Given the description of an element on the screen output the (x, y) to click on. 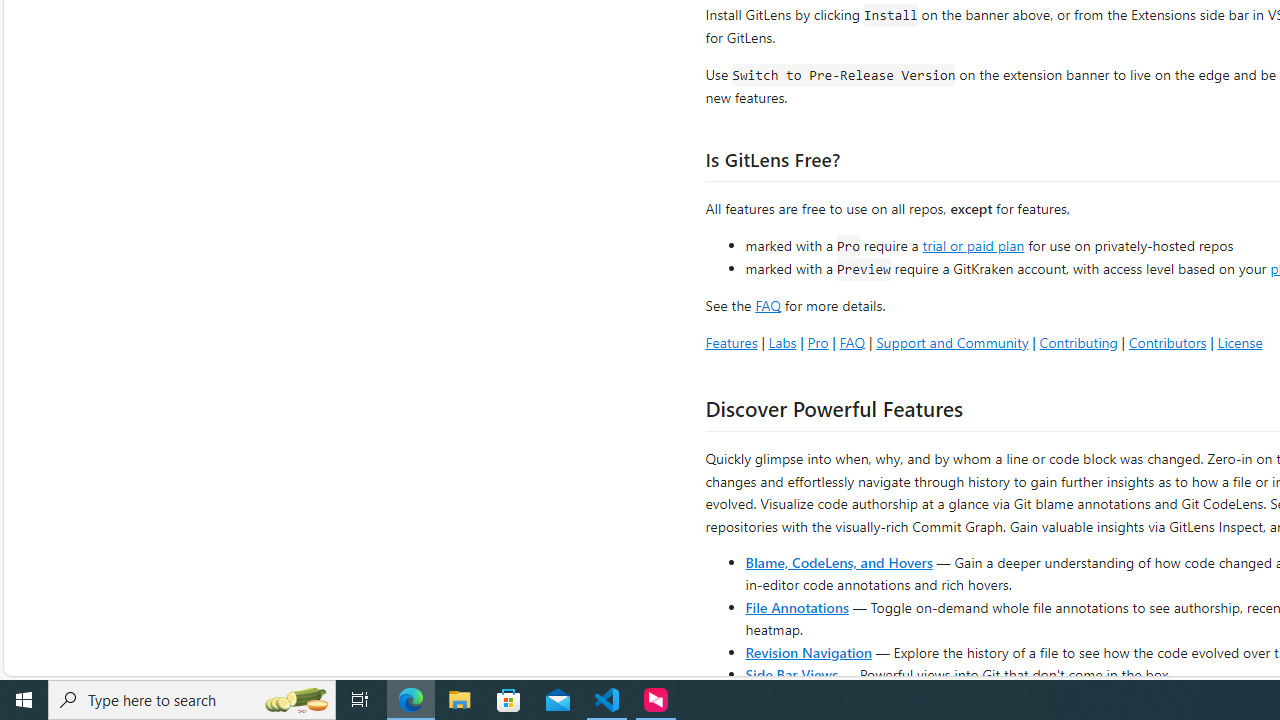
FAQ (852, 341)
Revision Navigation (807, 651)
trial or paid plan (973, 244)
File Annotations (796, 606)
Features (731, 341)
Contributors (1167, 341)
Pro (817, 341)
License (1240, 341)
Labs (782, 341)
Support and Community (952, 341)
Side Bar Views (791, 673)
Blame, CodeLens, and Hovers (838, 561)
Contributing (1078, 341)
